Given the description of an element on the screen output the (x, y) to click on. 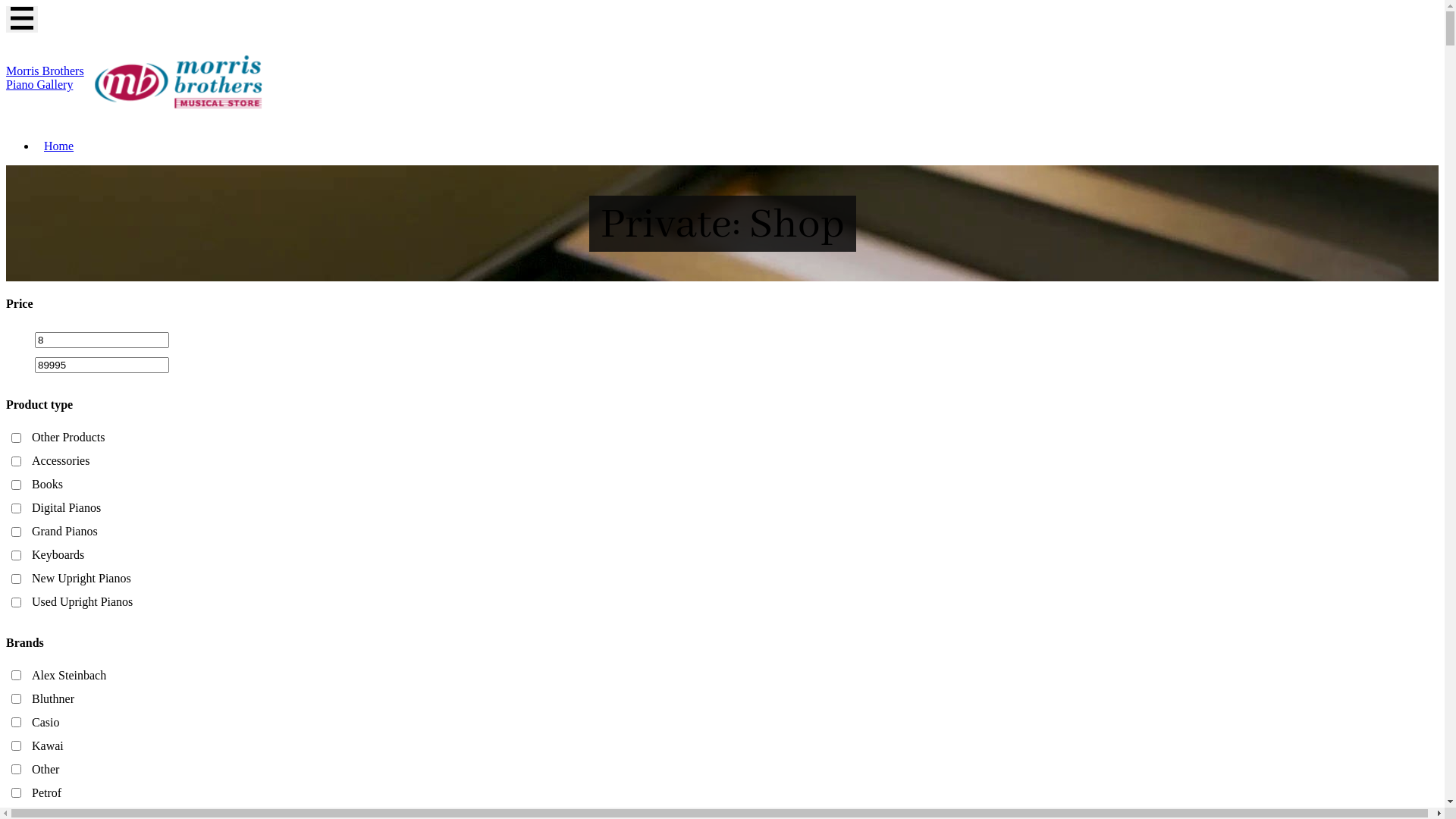
Morris Brothers Piano Gallery Element type: text (148, 81)
Home Element type: text (58, 145)
